Given the description of an element on the screen output the (x, y) to click on. 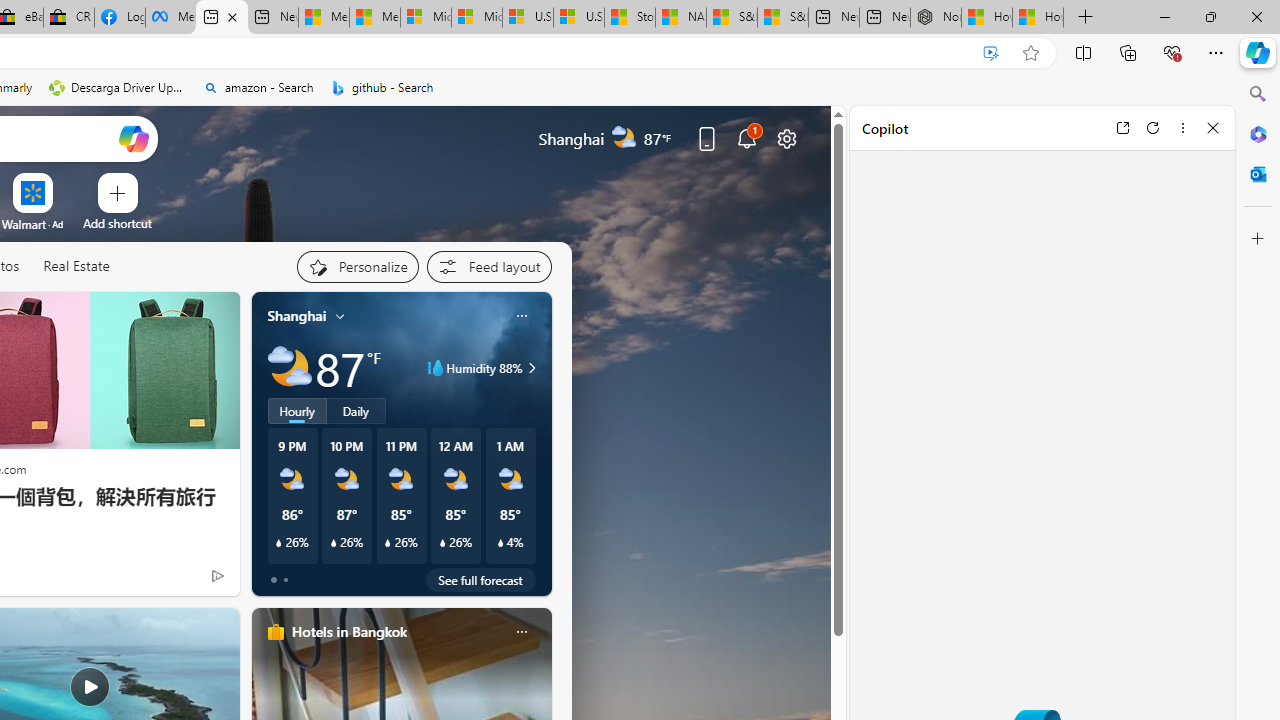
Log into Facebook (119, 17)
Settings and more (Alt+F) (1215, 52)
Shanghai (296, 315)
More options (1182, 127)
New Tab (1085, 17)
hotels-header-icon (275, 632)
Copilot (Ctrl+Shift+.) (1258, 52)
Add a site (117, 223)
Feed settings (488, 266)
Customize (1258, 239)
